Given the description of an element on the screen output the (x, y) to click on. 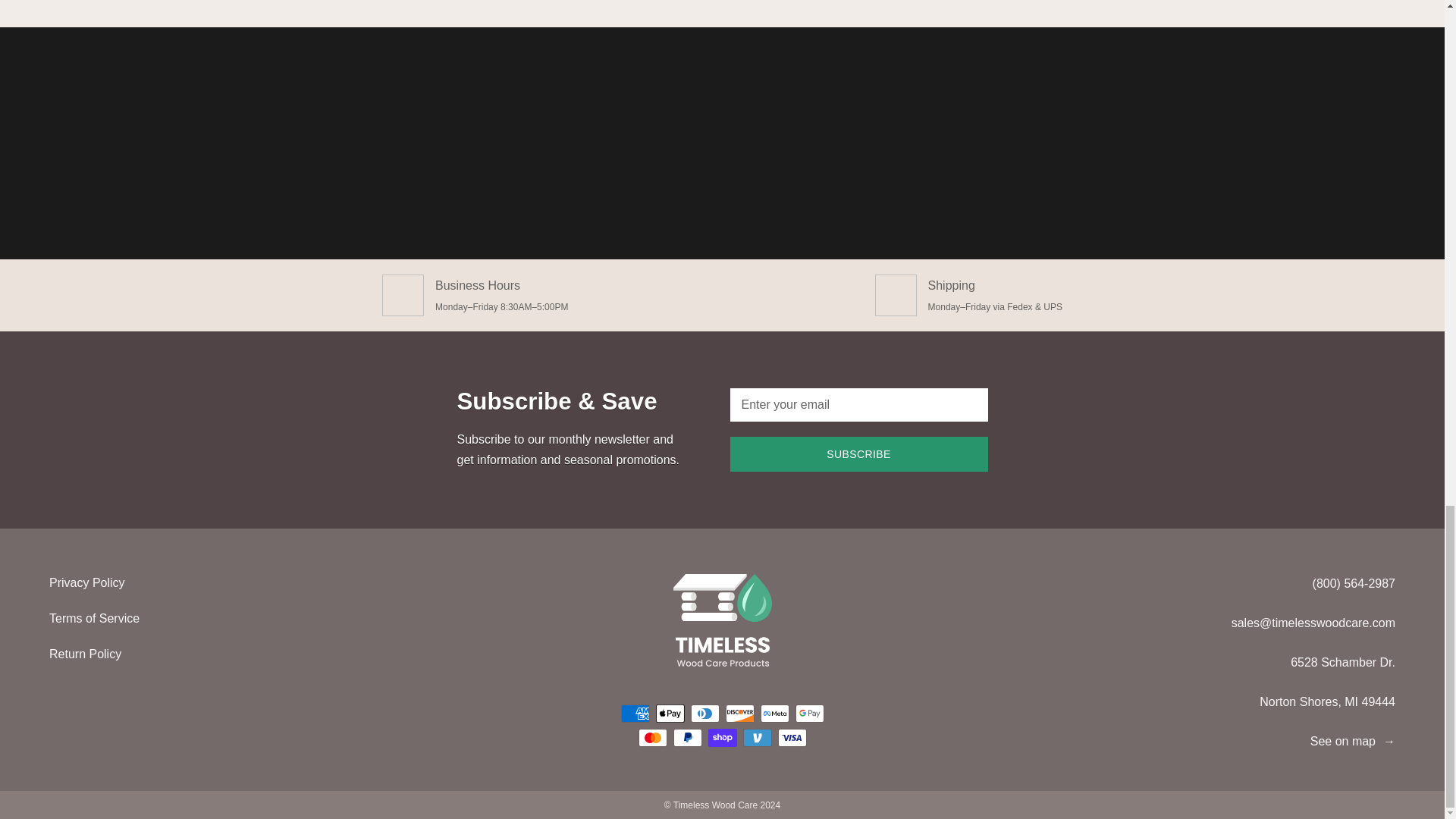
Google Pay (809, 713)
Diners Club (704, 713)
Visa (791, 737)
Discover (739, 713)
PayPal (686, 737)
Mastercard (652, 737)
Shop Pay (721, 737)
Meta Pay (774, 713)
Venmo (756, 737)
Apple Pay (669, 713)
American Express (634, 713)
